Given the description of an element on the screen output the (x, y) to click on. 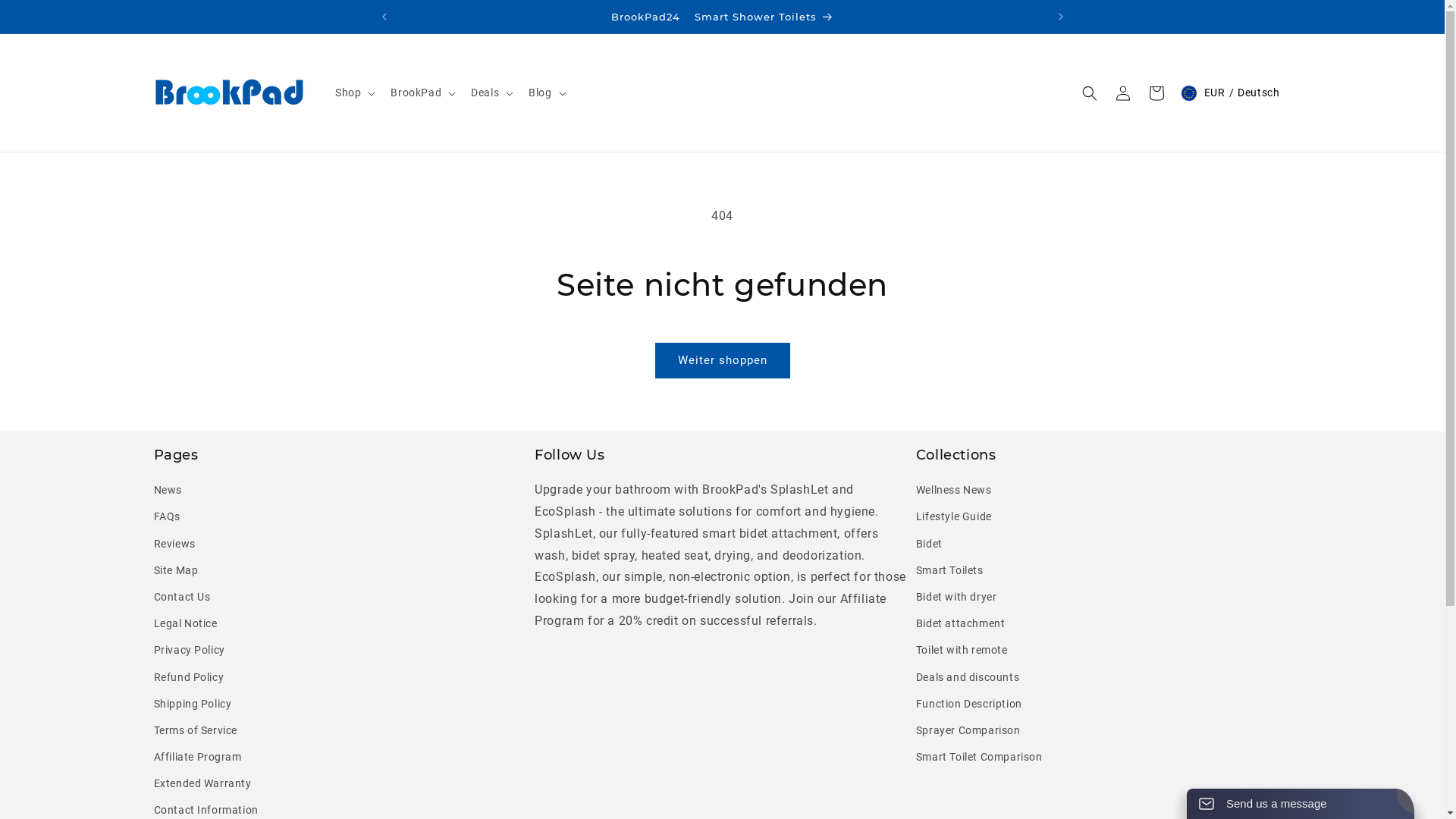
Terms of Service Element type: text (195, 730)
Bidet with dryer Element type: text (956, 596)
News Element type: text (167, 491)
Smart Toilets Element type: text (949, 570)
Legal Notice Element type: text (184, 623)
Weiter shoppen Element type: text (722, 360)
Sprayer Comparison Element type: text (968, 730)
Reviews Element type: text (173, 543)
Site Map Element type: text (175, 570)
Wellness News Element type: text (953, 491)
Toilet with remote Element type: text (961, 650)
Affiliate Program Element type: text (197, 756)
FAQs Element type: text (166, 516)
Warenkorb Element type: text (1156, 92)
Bidet Element type: text (929, 543)
Smart Toilet Comparison Element type: text (979, 756)
Einloggen Element type: text (1122, 92)
Privacy Policy Element type: text (188, 650)
Contact Us Element type: text (181, 596)
Deals and discounts Element type: text (967, 677)
Refund Policy Element type: text (188, 677)
Lifestyle Guide Element type: text (953, 516)
Function Description Element type: text (969, 703)
Shipping Policy Element type: text (192, 703)
Bidet attachment Element type: text (960, 623)
Extended Warranty Element type: text (202, 783)
